Given the description of an element on the screen output the (x, y) to click on. 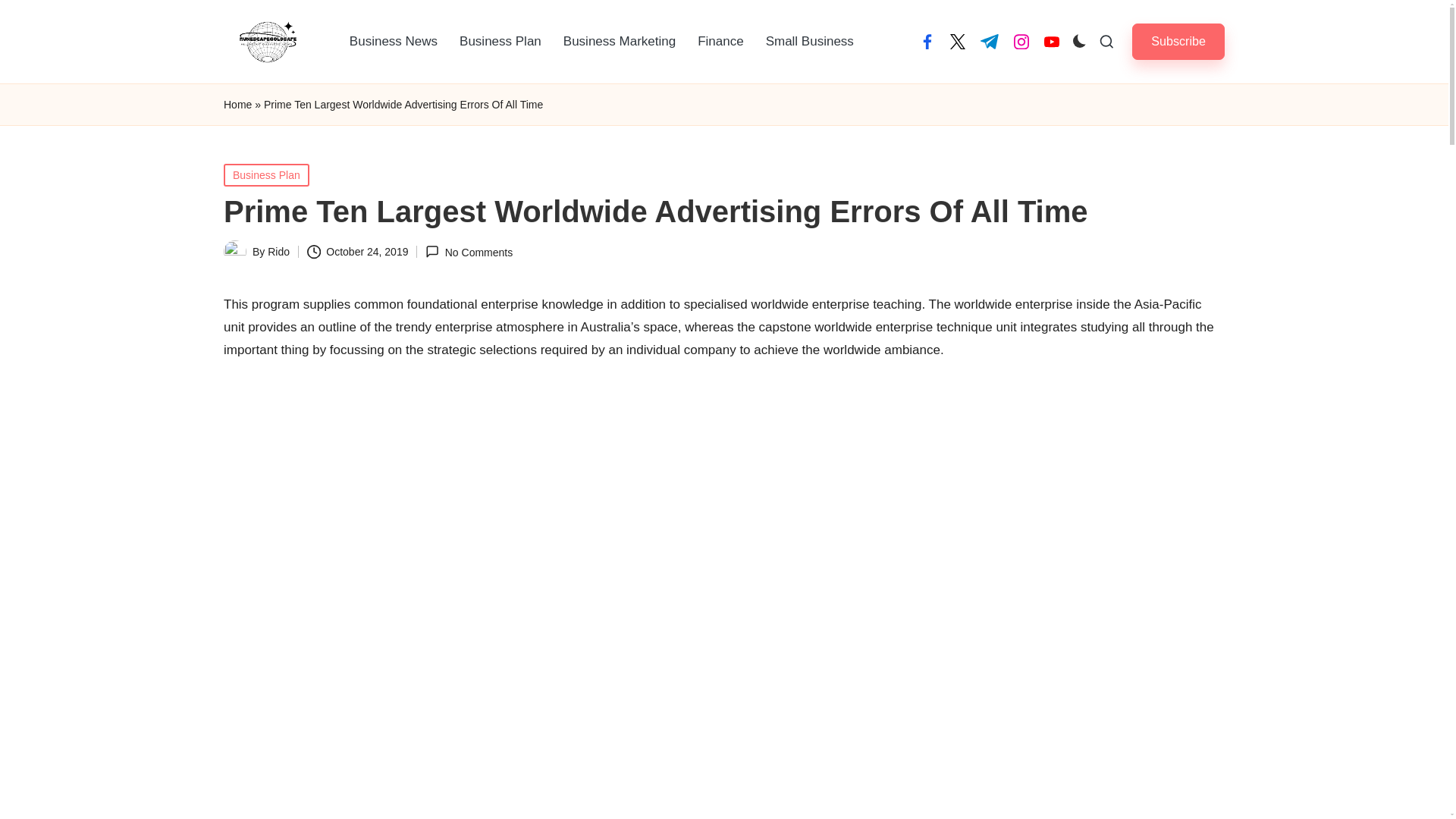
youtube.com (1051, 41)
Business News (393, 41)
View all posts by Rido (278, 251)
Business Plan (266, 174)
Rido (278, 251)
instagram.com (1020, 41)
facebook.com (927, 41)
No Comments (468, 251)
Finance (720, 41)
twitter.com (957, 41)
t.me (989, 41)
Business Marketing (619, 41)
Subscribe (1178, 40)
Business Plan (499, 41)
Home (237, 104)
